Given the description of an element on the screen output the (x, y) to click on. 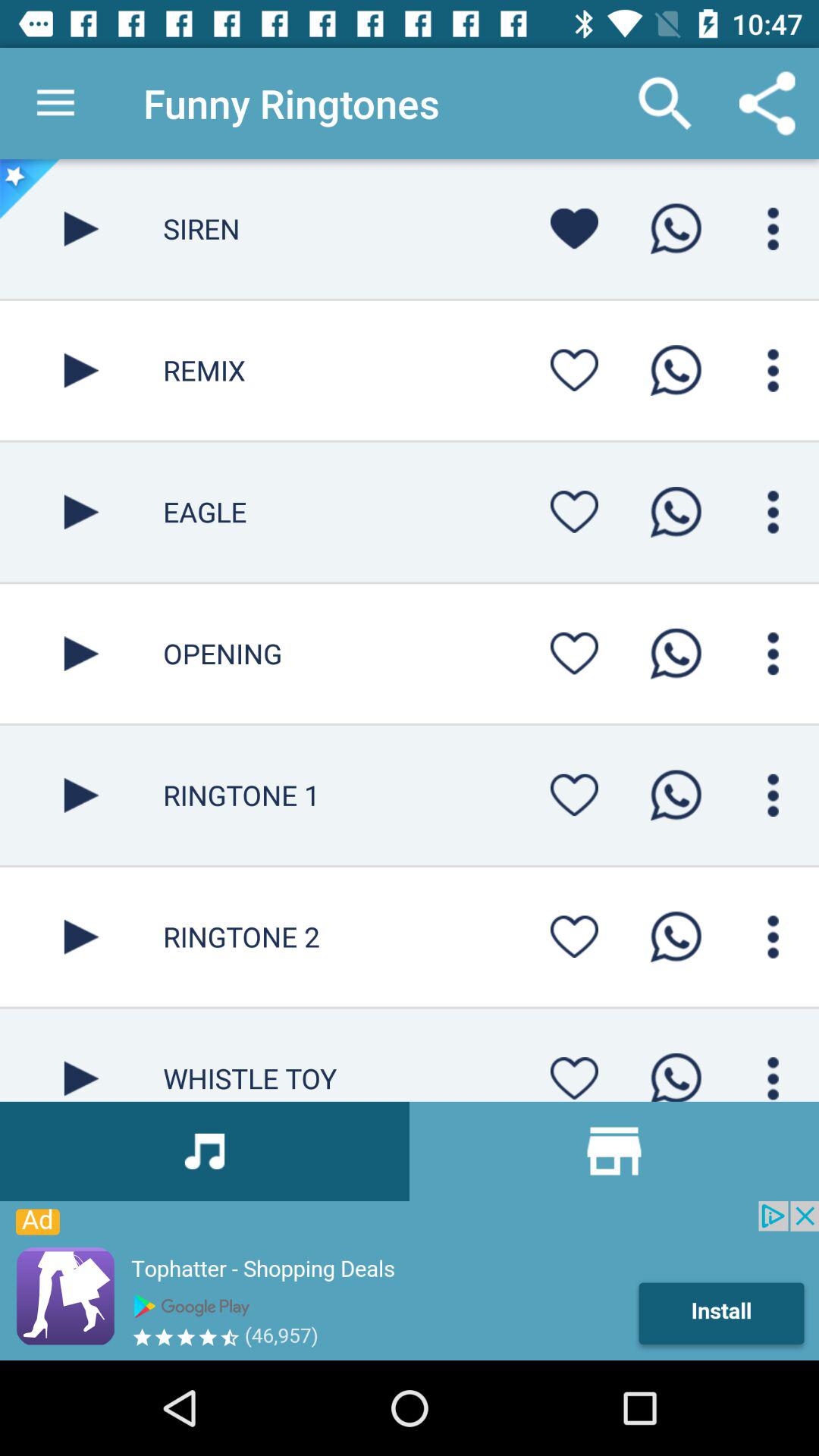
play the selected ringtone (81, 795)
